Given the description of an element on the screen output the (x, y) to click on. 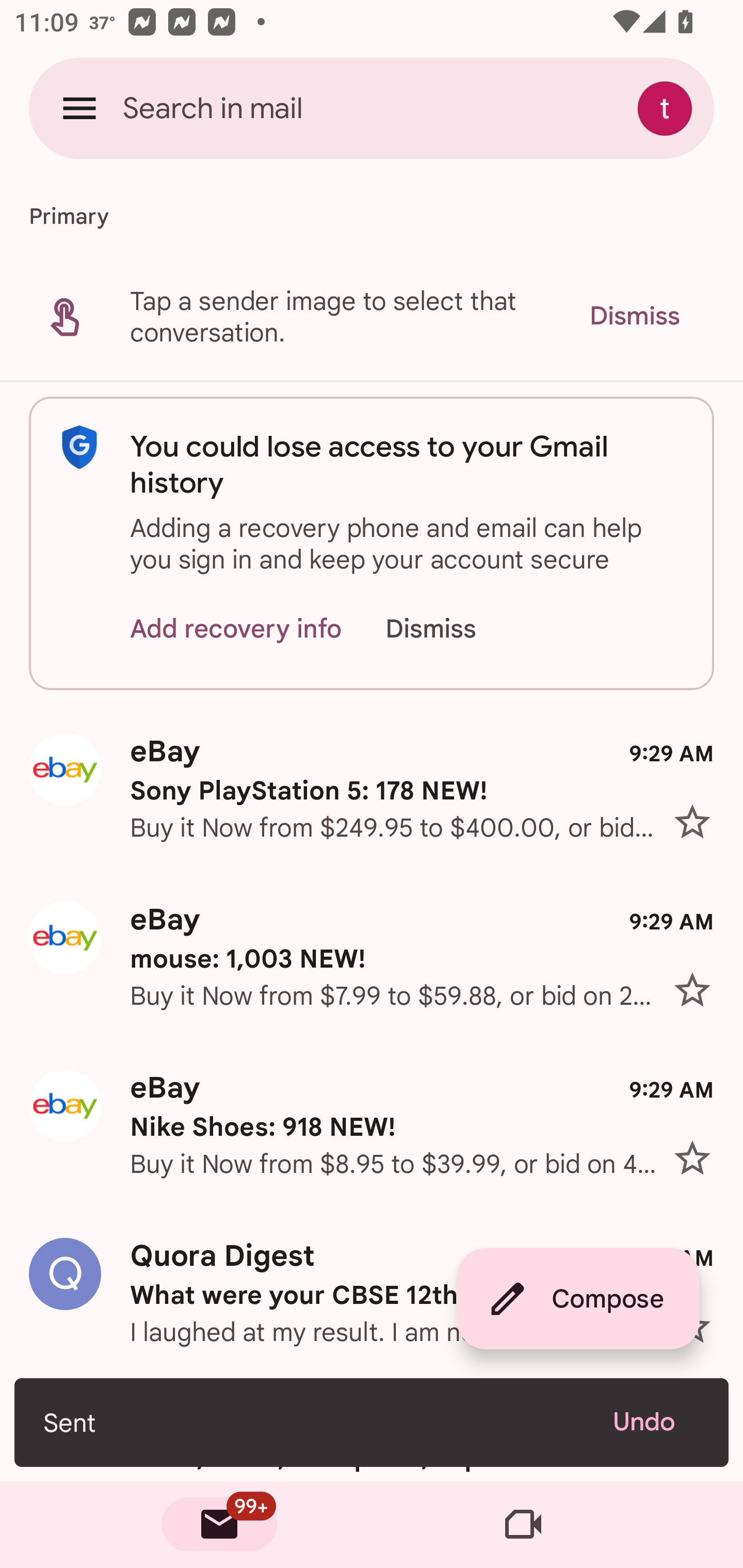
Open navigation drawer (79, 108)
Dismiss Dismiss tip (634, 315)
Add recovery info (235, 628)
Dismiss (449, 628)
Compose (577, 1299)
Undo (655, 1422)
Meet (523, 1524)
